Given the description of an element on the screen output the (x, y) to click on. 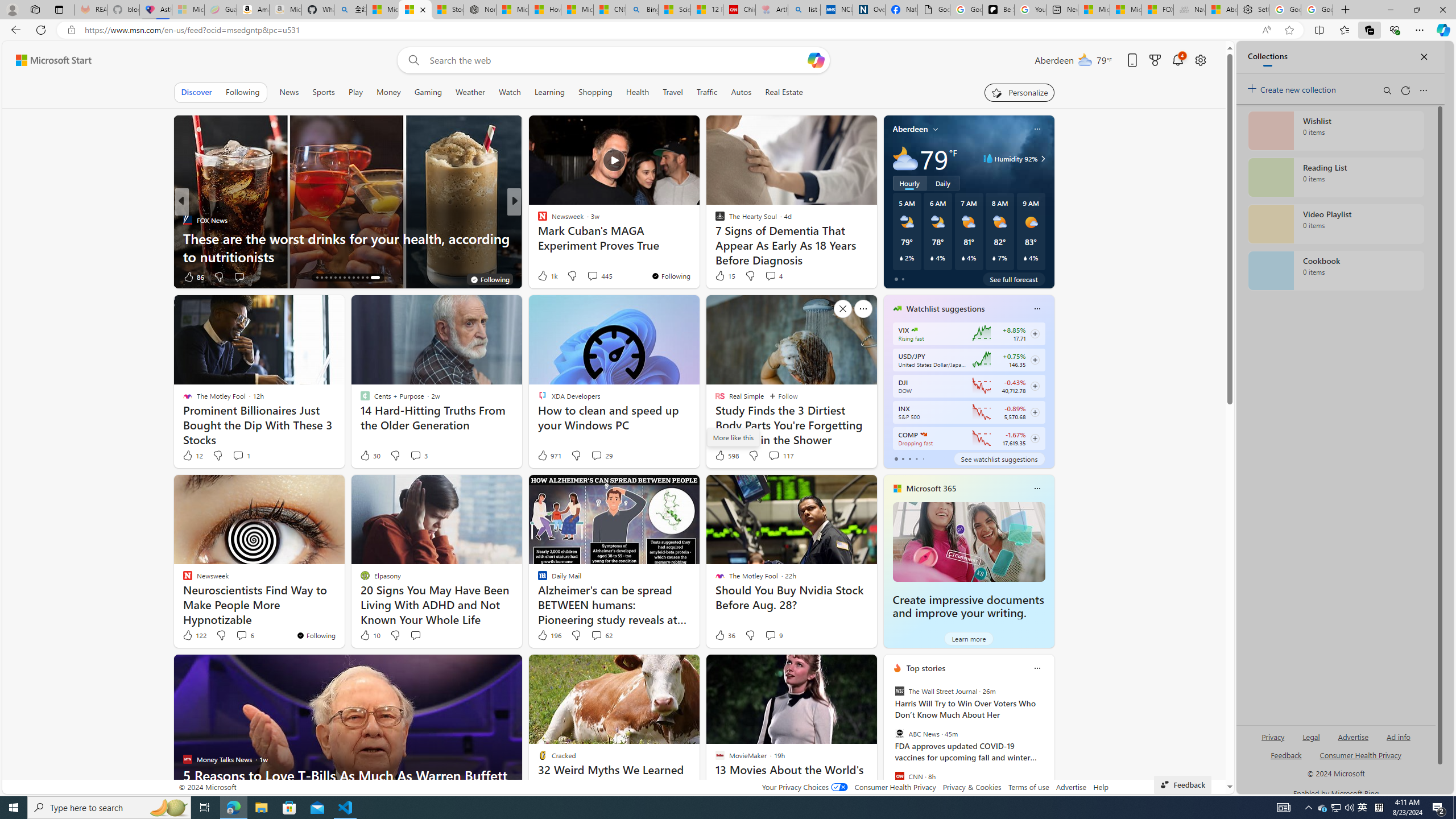
tab-2 (908, 458)
122 Like (193, 634)
See full forecast (1013, 278)
View comments 62 Comment (601, 634)
tab-3 (916, 458)
View comments 6 Comment (241, 635)
AutomationID: tab-18 (335, 277)
